Given the description of an element on the screen output the (x, y) to click on. 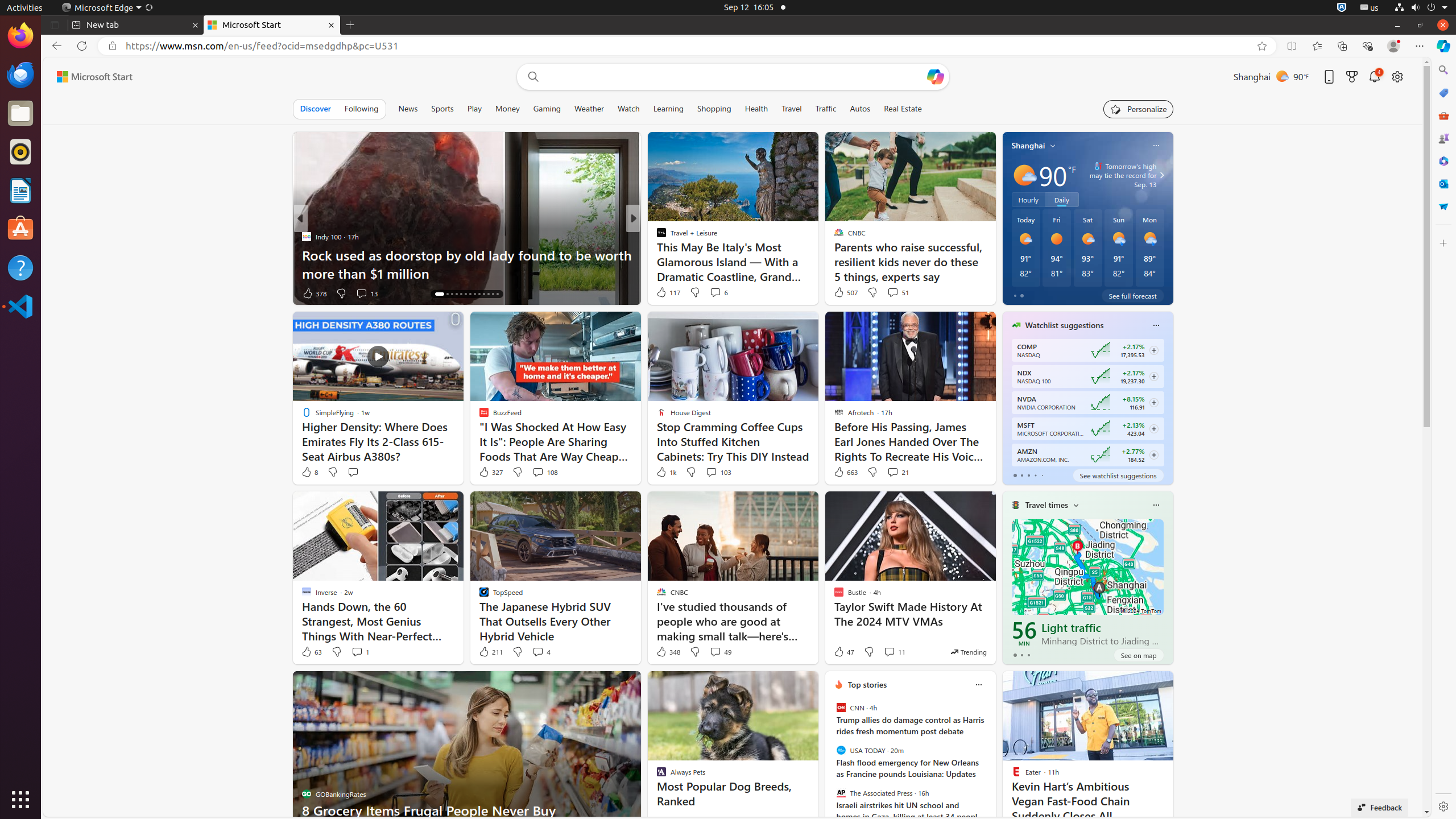
Travel Element type: link (791, 108)
Microsoft Edge Element type: menu (106, 7)
See watchlist suggestions Element type: link (1118, 475)
Tools Element type: push-button (1443, 115)
211 Like Element type: toggle-button (490, 651)
